Given the description of an element on the screen output the (x, y) to click on. 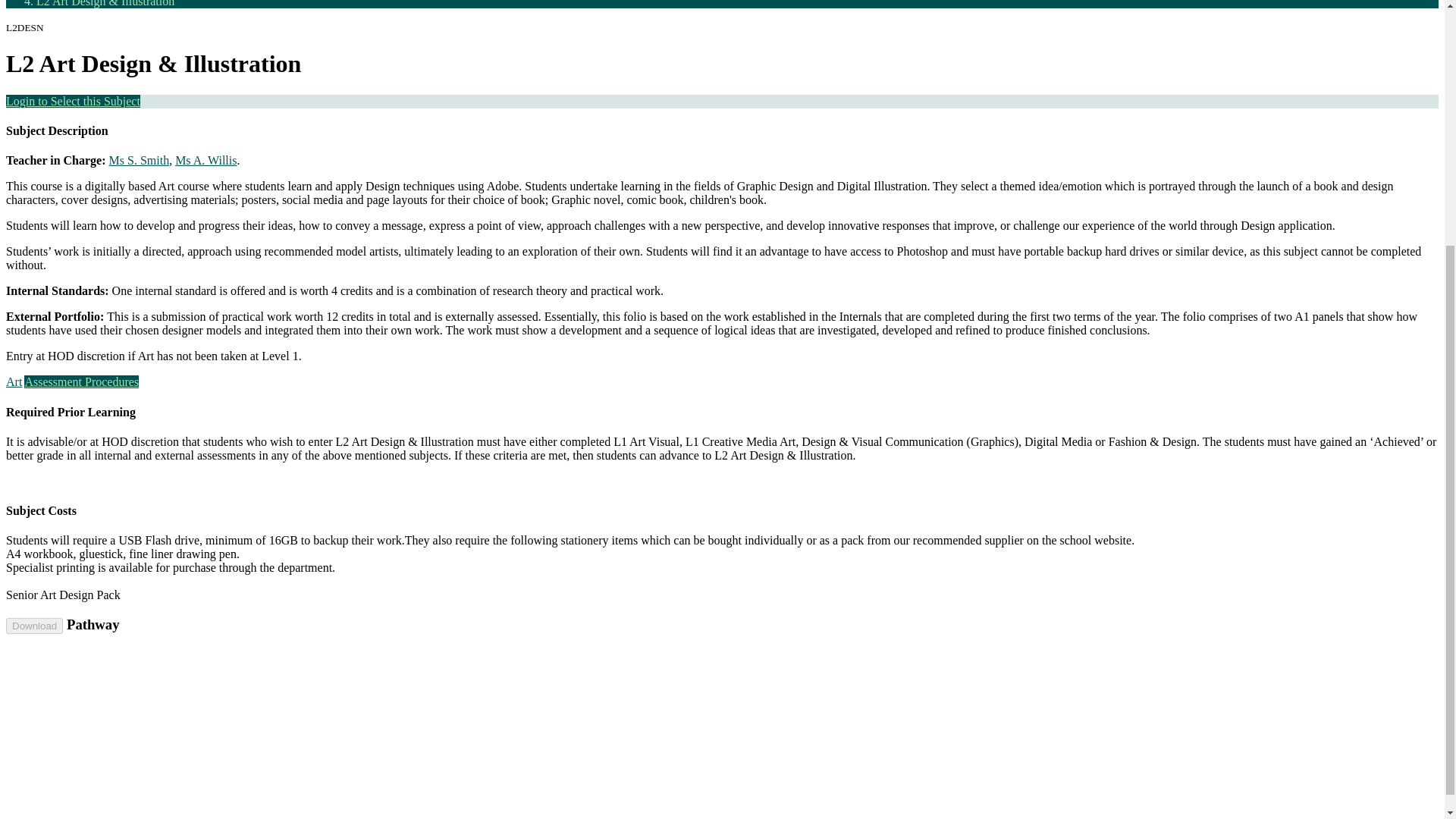
Ms S. Smith (139, 160)
Download (33, 625)
Ms A. Willis (204, 160)
Art (13, 381)
Assessment Procedures (81, 381)
Login to Select this Subject (72, 101)
